Given the description of an element on the screen output the (x, y) to click on. 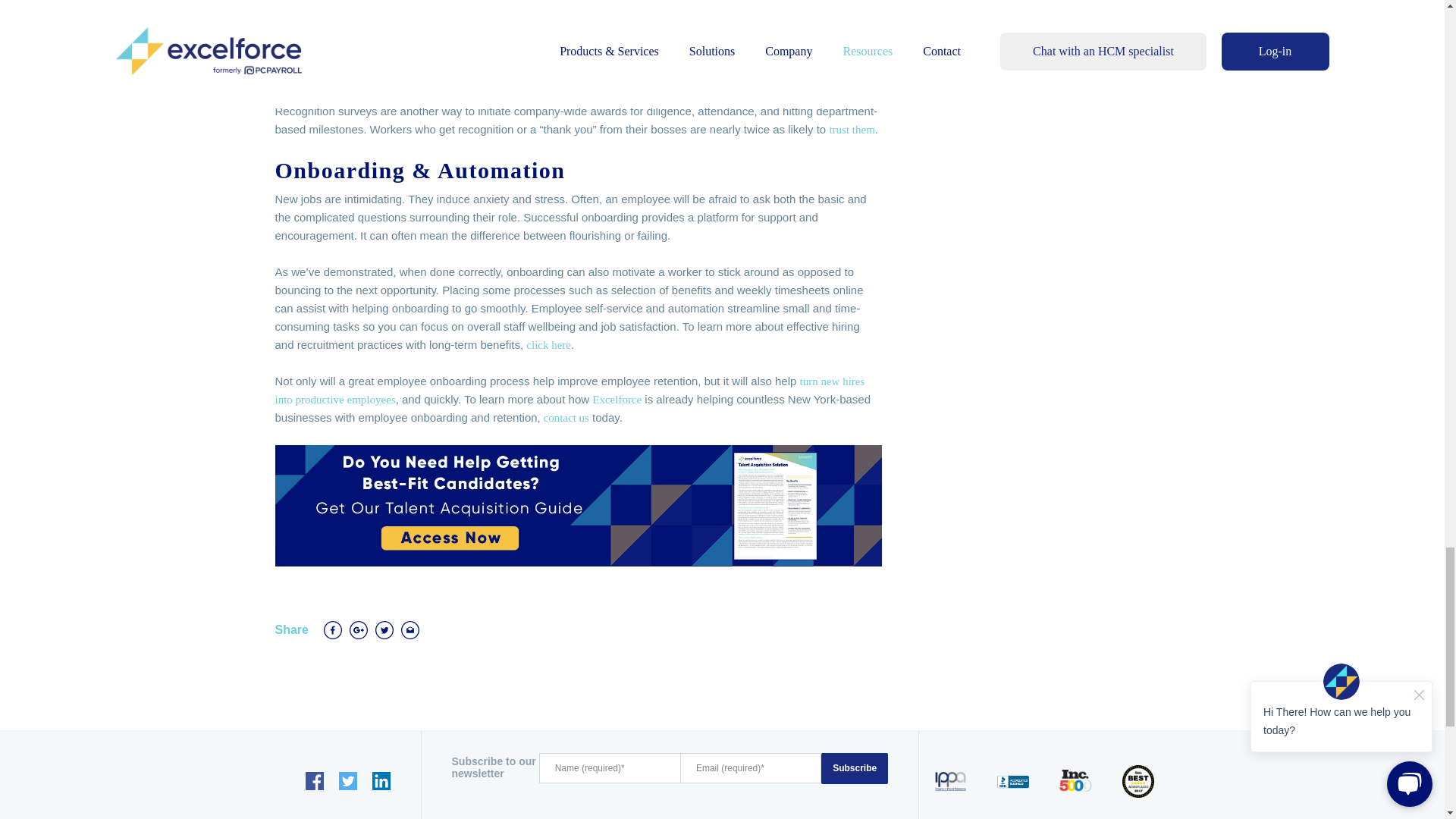
Subscribe (854, 767)
INC 5000 (1075, 780)
Inc Best (1138, 780)
BBB Accredited Business (1013, 781)
IPPA (950, 781)
